Given the description of an element on the screen output the (x, y) to click on. 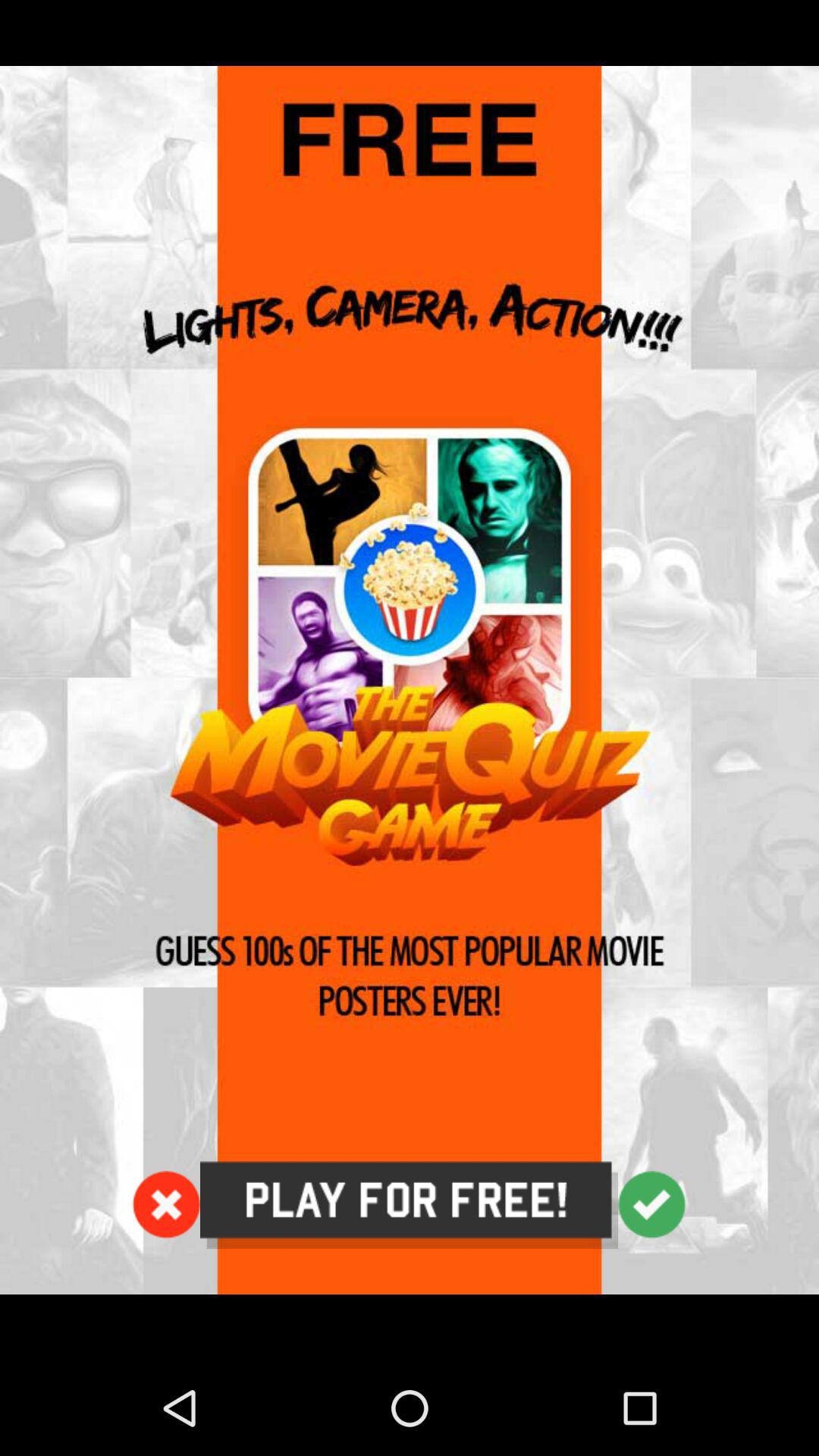
tap icon at the center (409, 679)
